Given the description of an element on the screen output the (x, y) to click on. 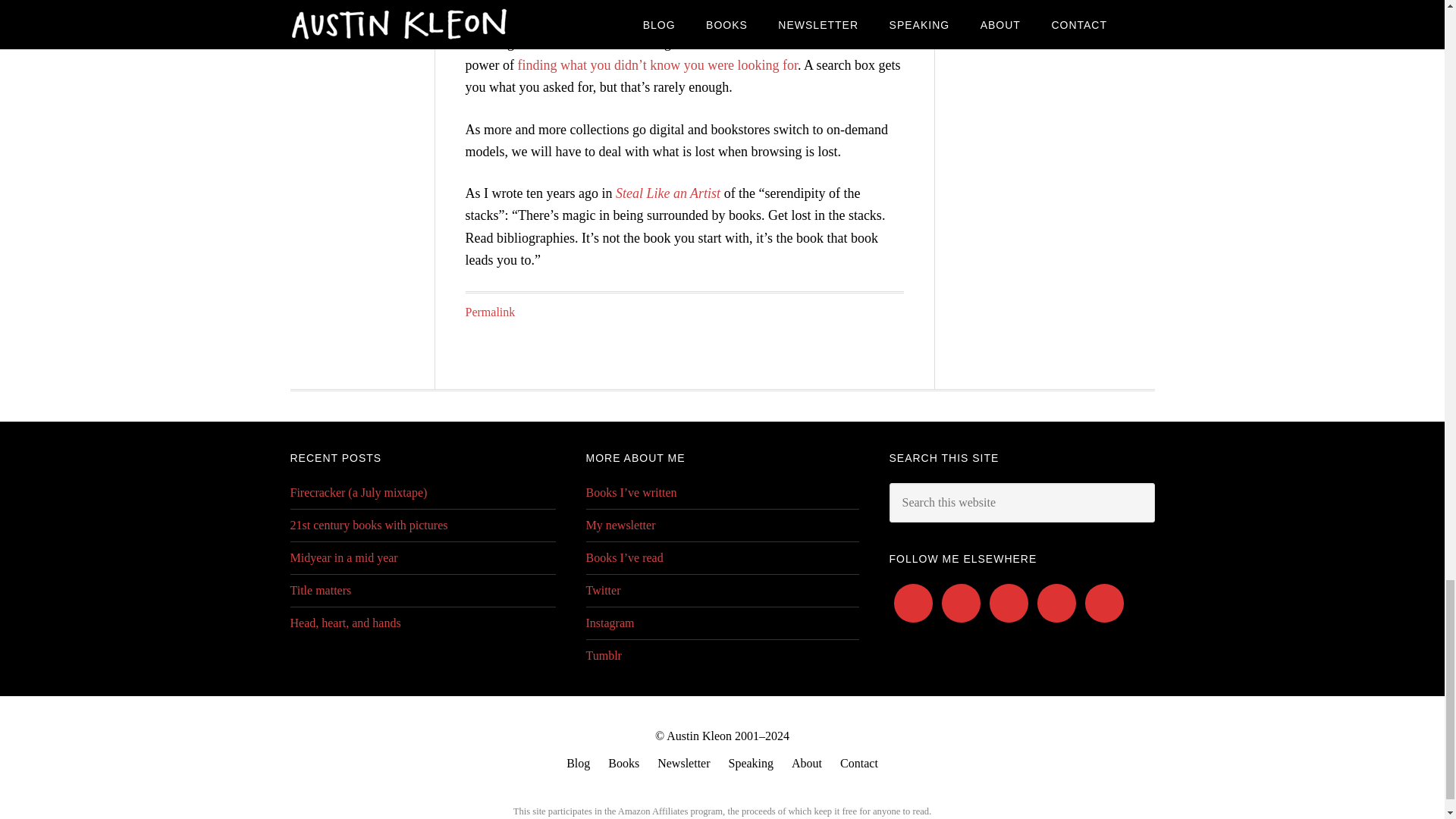
Read my books (623, 763)
Permalink (490, 311)
Steal Like an Artist (667, 192)
